Given the description of an element on the screen output the (x, y) to click on. 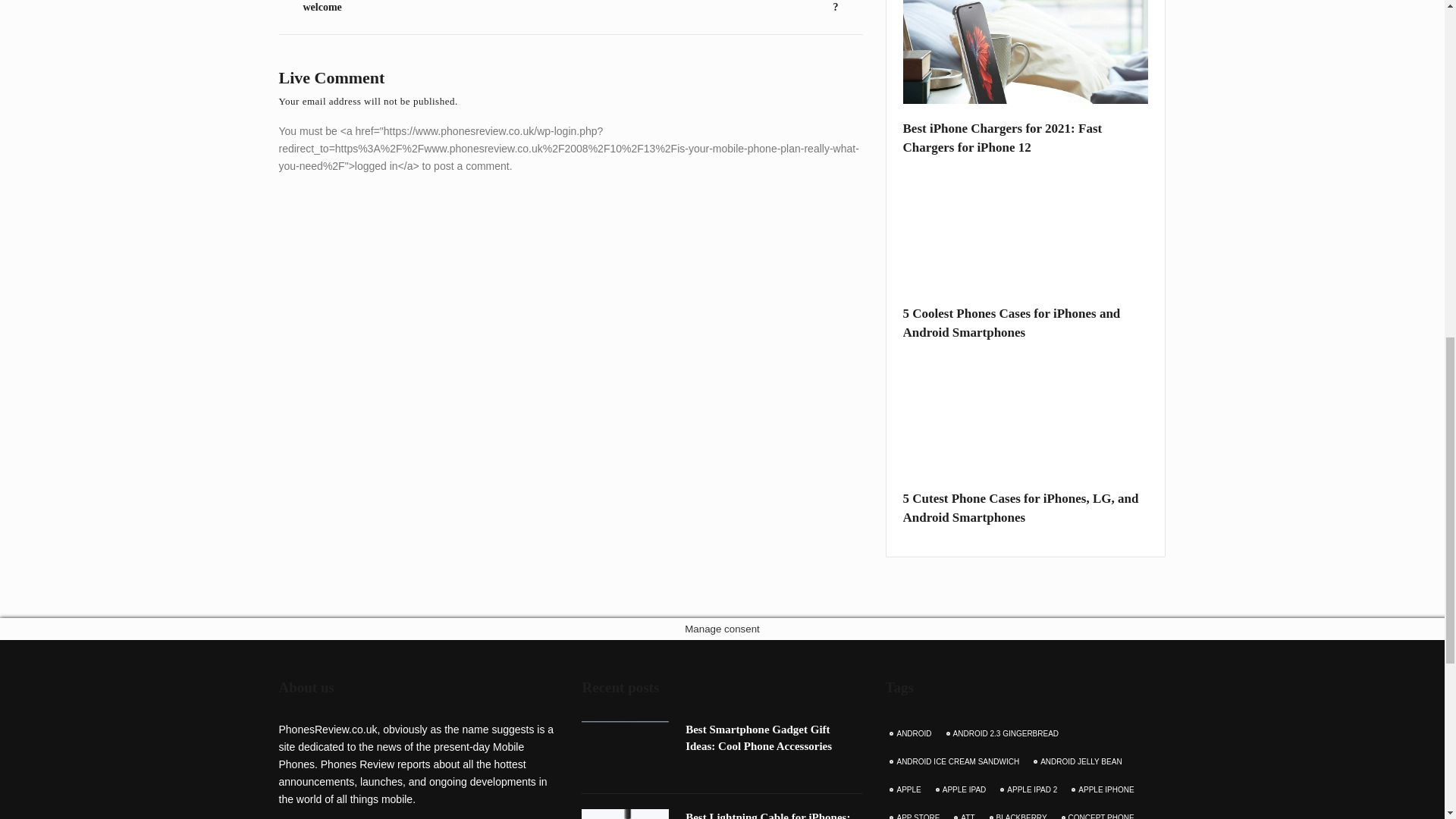
ANDROID ICE CREAM SANDWICH (955, 761)
5 Coolest Phones Cases for iPhones and Android Smartphones (1025, 322)
Best iPhone Chargers for 2021: Fast Chargers for iPhone 12 (1025, 137)
ANDROID 2.3 GINGERBREAD (1003, 733)
Best Smartphone Gadget Gift Ideas: Cool Phone Accessories (758, 737)
ANDROID (912, 733)
